Given the description of an element on the screen output the (x, y) to click on. 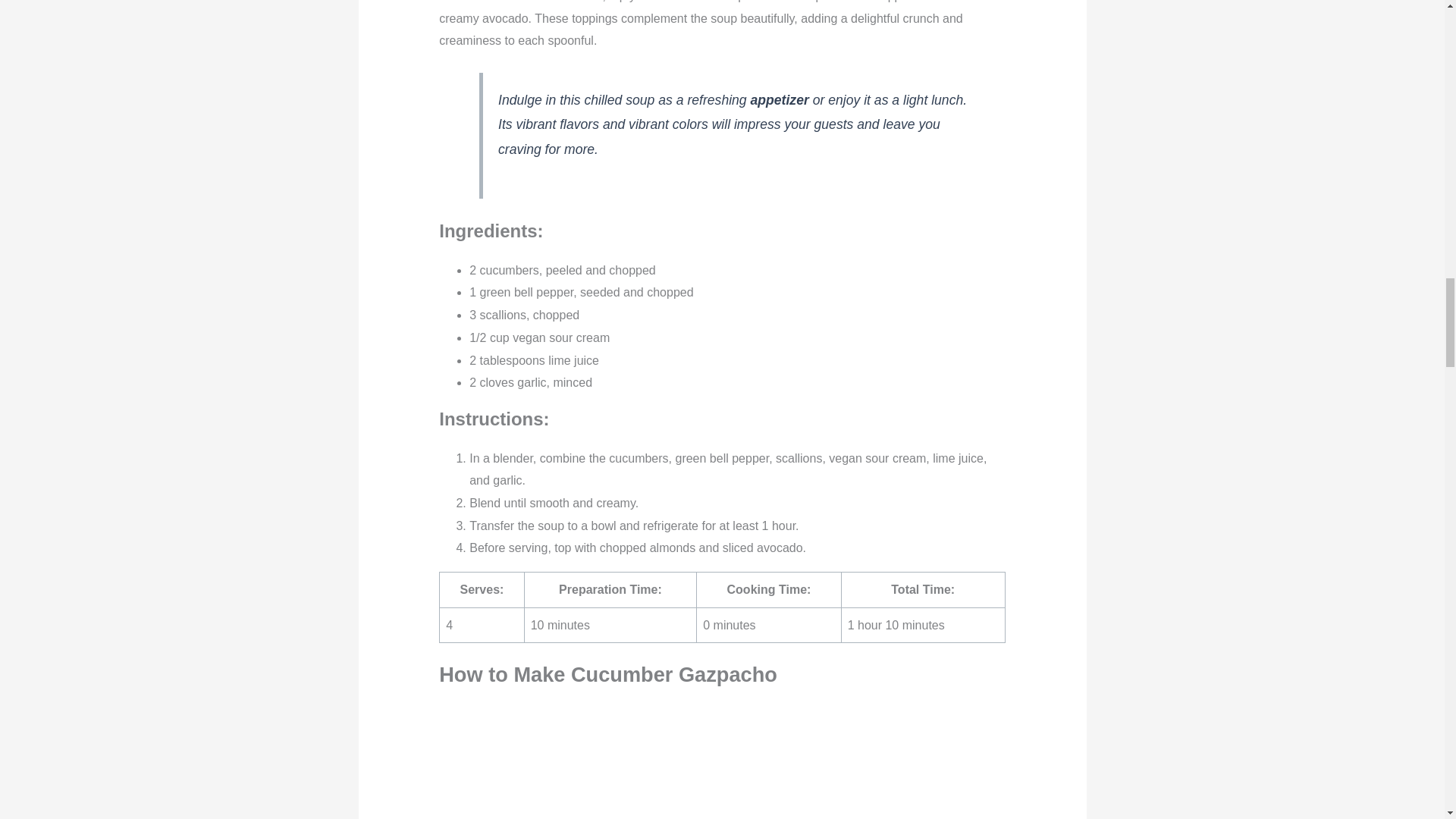
Cucumber Gazpacho (722, 761)
